Given the description of an element on the screen output the (x, y) to click on. 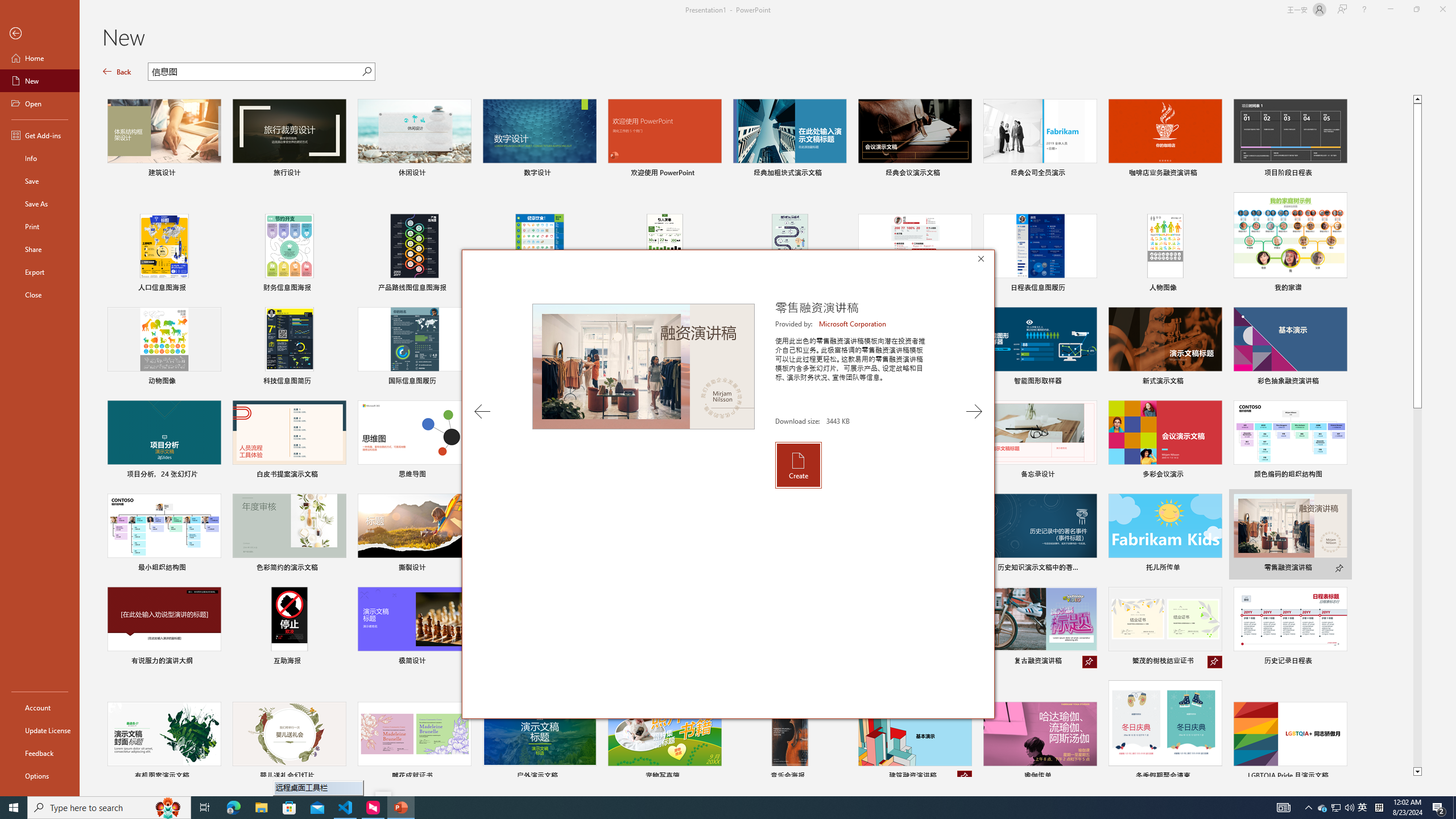
Create (797, 465)
Previous Template (481, 411)
Update License (40, 730)
